Given the description of an element on the screen output the (x, y) to click on. 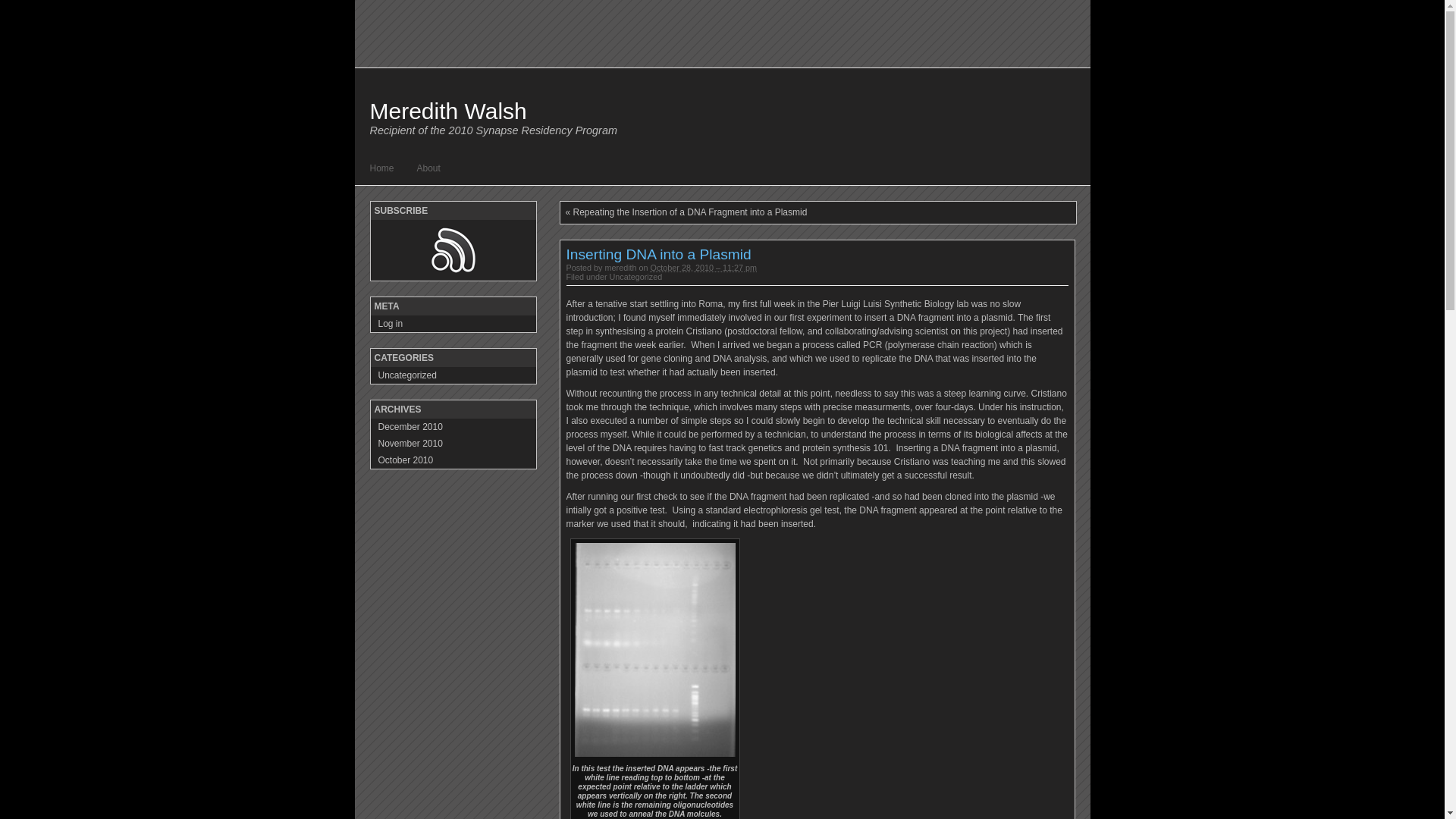
December 2010 Element type: text (452, 426)
Uncategorized Element type: text (452, 375)
About Element type: text (428, 168)
Home Element type: text (382, 168)
Subscribe to Meredith Walsh Element type: hover (453, 249)
October 2010 Element type: text (452, 459)
meredith Element type: text (621, 267)
Meredith Walsh Element type: text (448, 110)
Uncategorized Element type: text (635, 276)
Log in Element type: text (452, 323)
Inserting DNA into a Plasmid Element type: text (657, 254)
Repeating the Insertion of a DNA Fragment into a Plasmid Element type: text (690, 212)
November 2010 Element type: text (452, 443)
